Given the description of an element on the screen output the (x, y) to click on. 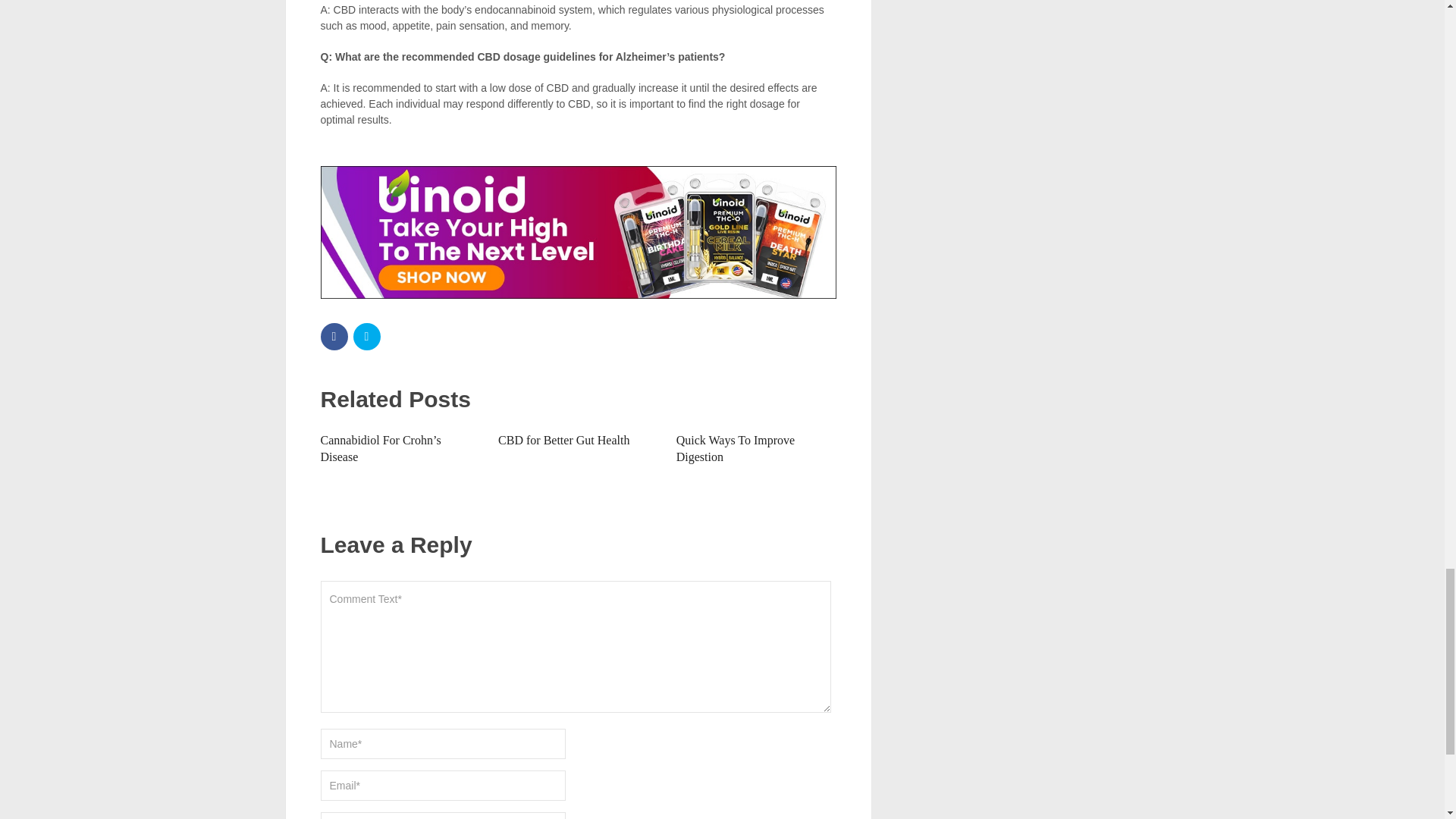
CBD for Better Gut Health (562, 440)
CBD for Better Gut Health (562, 440)
Quick Ways To Improve Digestion (735, 448)
Quick Ways To Improve Digestion (735, 448)
